Given the description of an element on the screen output the (x, y) to click on. 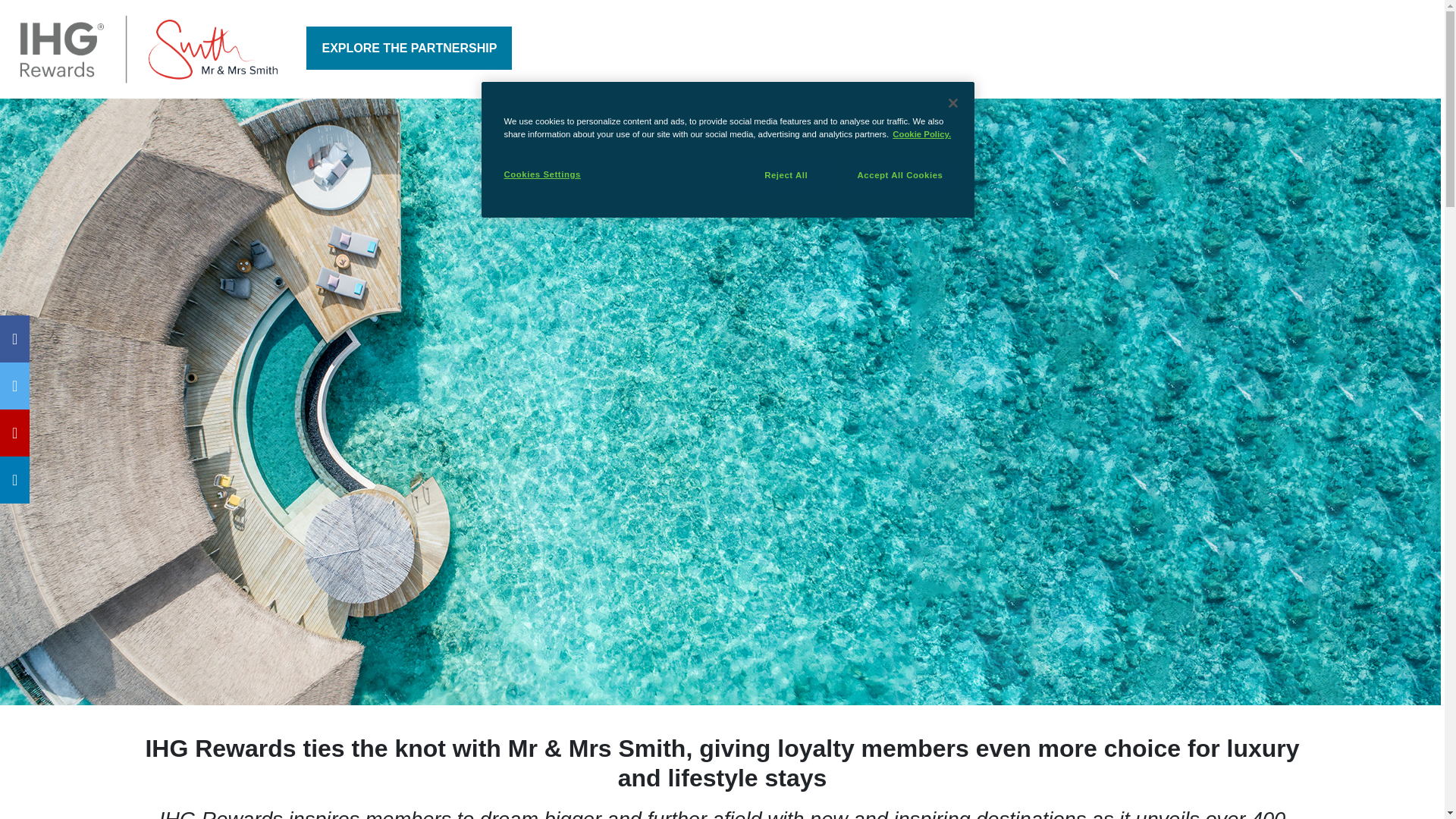
EXPLORE THE PARTNERSHIP (408, 47)
EXPLORE THE PARTNERSHIP (408, 47)
IHG (147, 47)
